Given the description of an element on the screen output the (x, y) to click on. 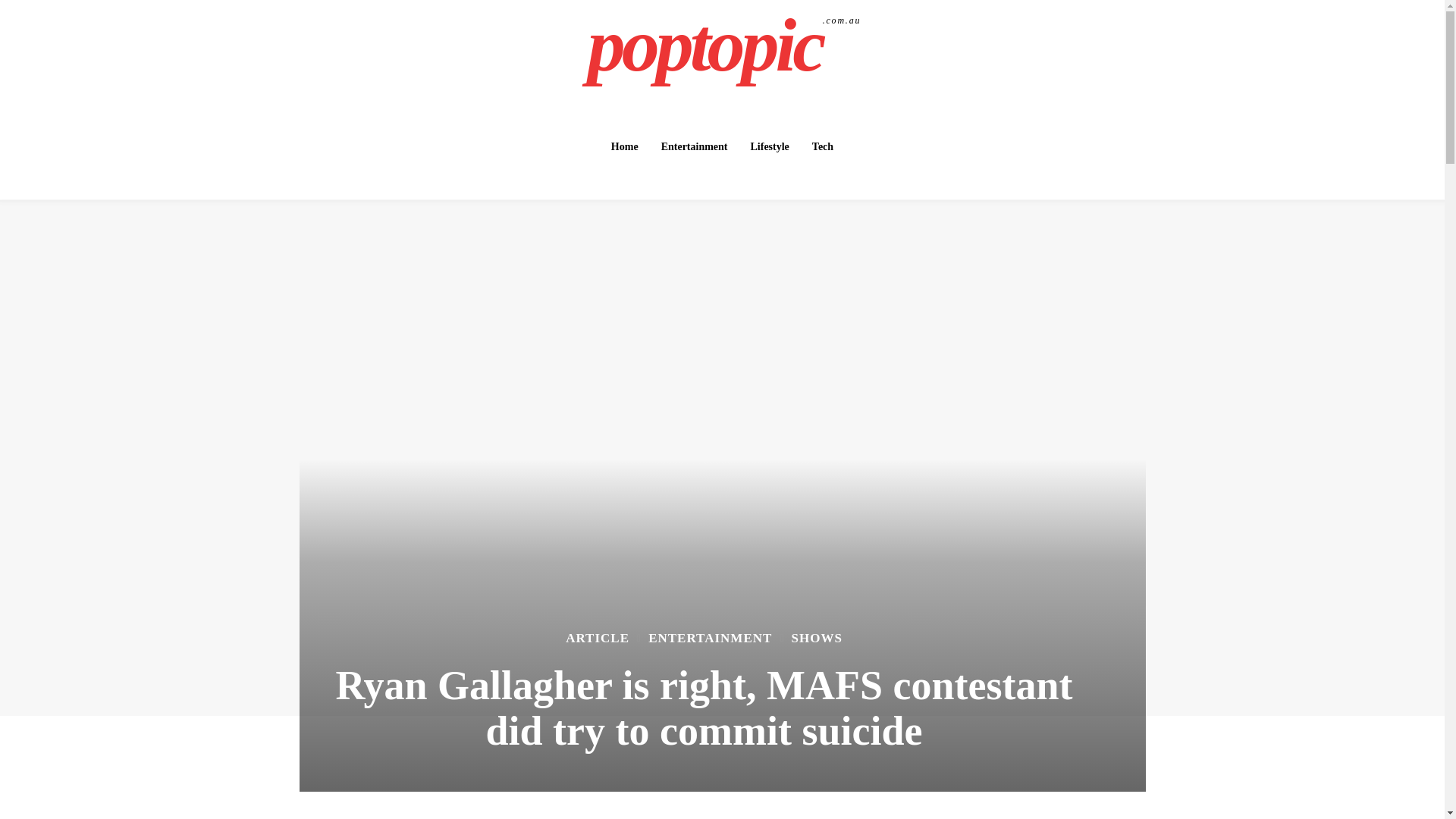
ARTICLE (597, 637)
Tech (823, 146)
Entertainment (694, 146)
Home (625, 146)
POPTOPIC (724, 45)
Lifestyle (769, 146)
SHOWS (724, 45)
ENTERTAINMENT (817, 637)
